Given the description of an element on the screen output the (x, y) to click on. 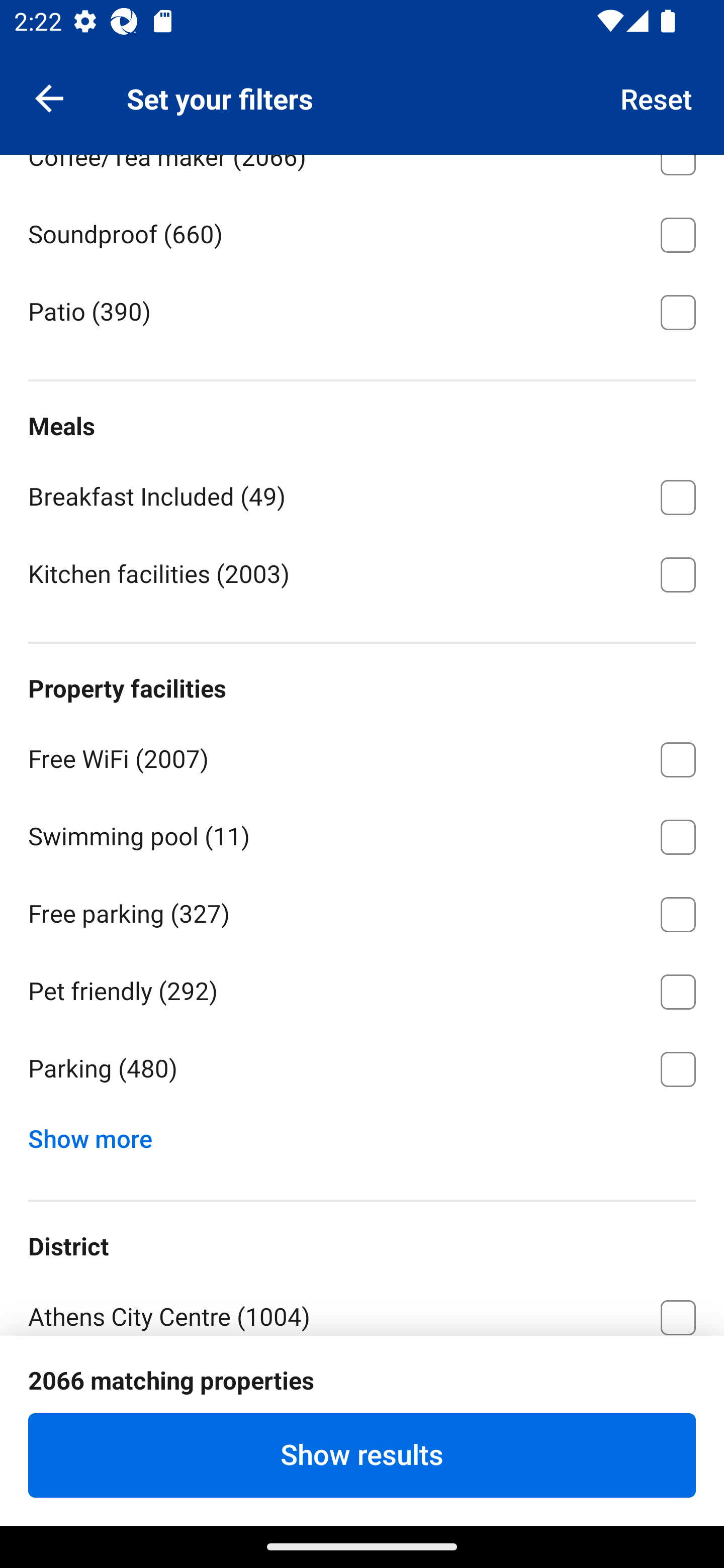
Electric kettle ⁦(1834) (361, 76)
Navigate up (49, 97)
Reset (656, 97)
Coffee/Tea maker ⁦(2066) (361, 173)
Soundproof ⁦(660) (361, 230)
Patio ⁦(390) (361, 310)
Breakfast Included ⁦(49) (361, 493)
Kitchen facilities ⁦(2003) (361, 573)
Free WiFi ⁦(2007) (361, 756)
Swimming pool ⁦(11) (361, 832)
Free parking ⁦(327) (361, 910)
Pet friendly ⁦(292) (361, 988)
Parking ⁦(480) (361, 1069)
Show more (97, 1134)
Athens City Centre ⁦(1004) (361, 1304)
Plaka ⁦(72) (361, 1391)
Show results (361, 1454)
